Given the description of an element on the screen output the (x, y) to click on. 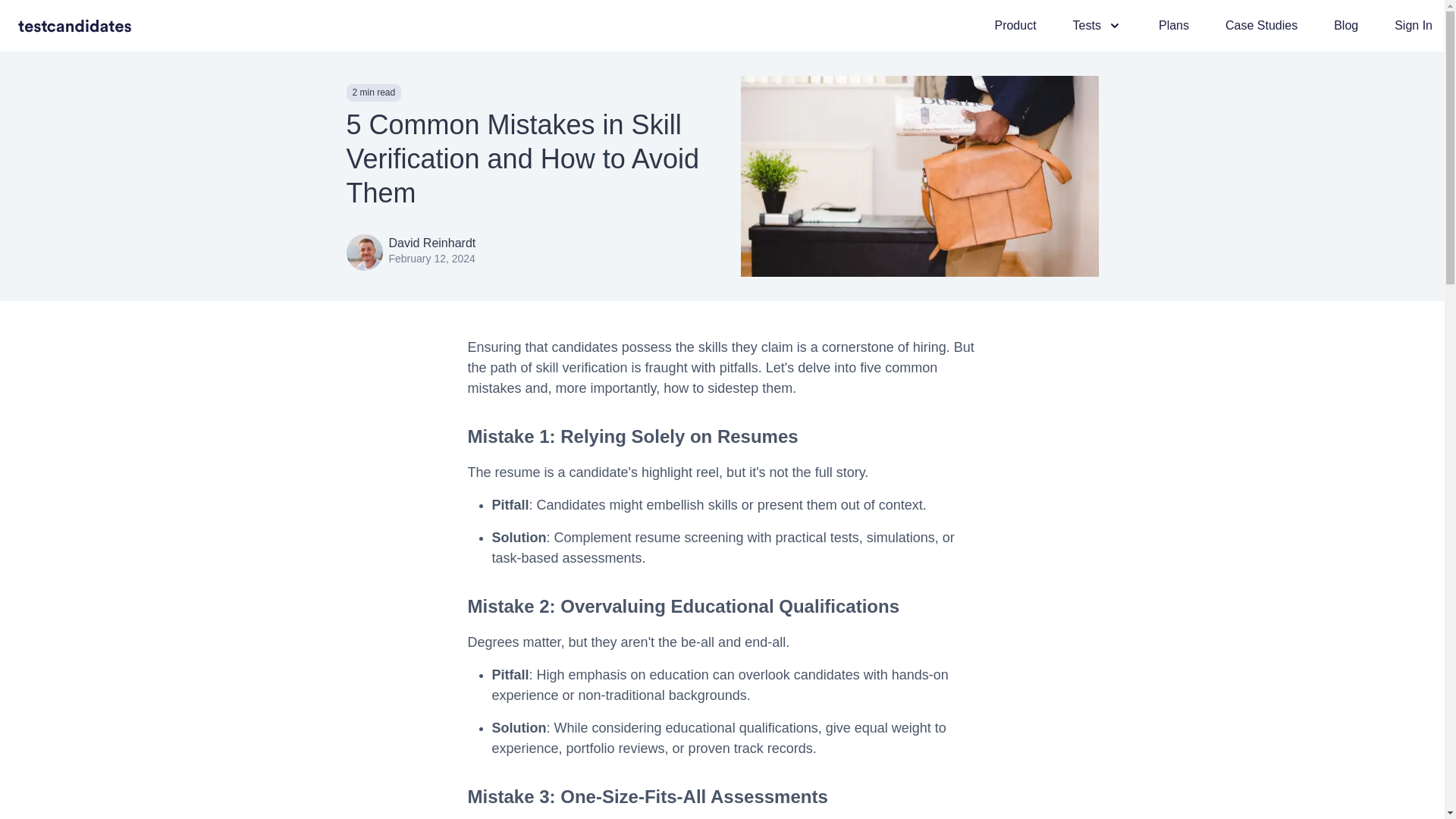
Blog (1345, 25)
Plans (1173, 25)
Sign In (1413, 25)
Tests (1097, 25)
Case Studies (1261, 25)
Product (1014, 25)
